Given the description of an element on the screen output the (x, y) to click on. 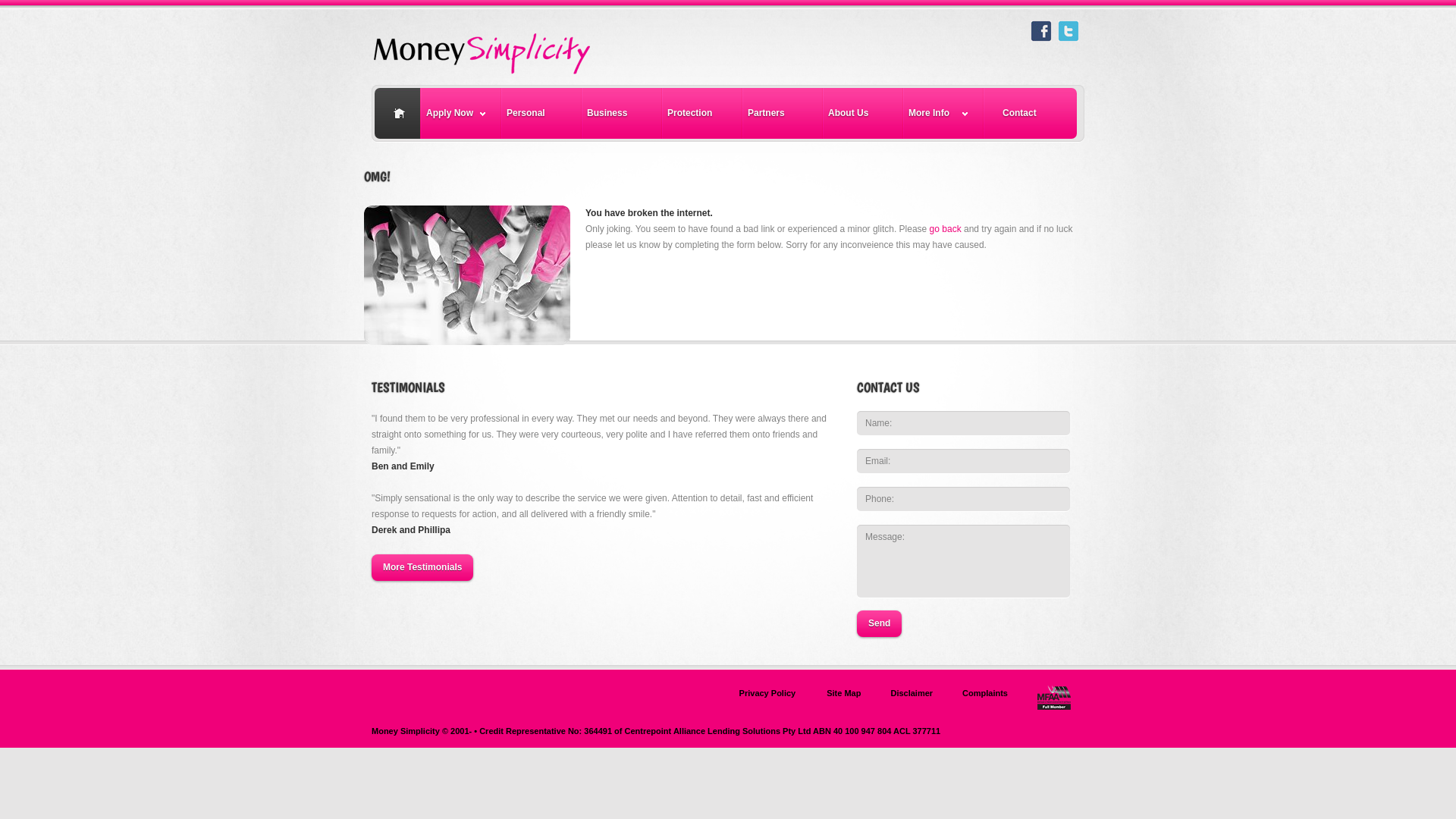
Complaints Element type: text (984, 692)
Send Element type: text (878, 623)
More Info Element type: text (942, 112)
Site Map Element type: text (843, 692)
Personal Element type: text (541, 112)
Apply Now Element type: text (460, 112)
Privacy Policy Element type: text (767, 692)
Partners Element type: text (782, 112)
Disclaimer Element type: text (911, 692)
Business Element type: text (621, 112)
Contact Element type: text (1030, 112)
About Us Element type: text (862, 112)
More Testimonials Element type: text (422, 567)
MONEY SIMPLICITY Element type: text (514, 48)
go back Element type: text (945, 228)
Protection Element type: text (701, 112)
